Given the description of an element on the screen output the (x, y) to click on. 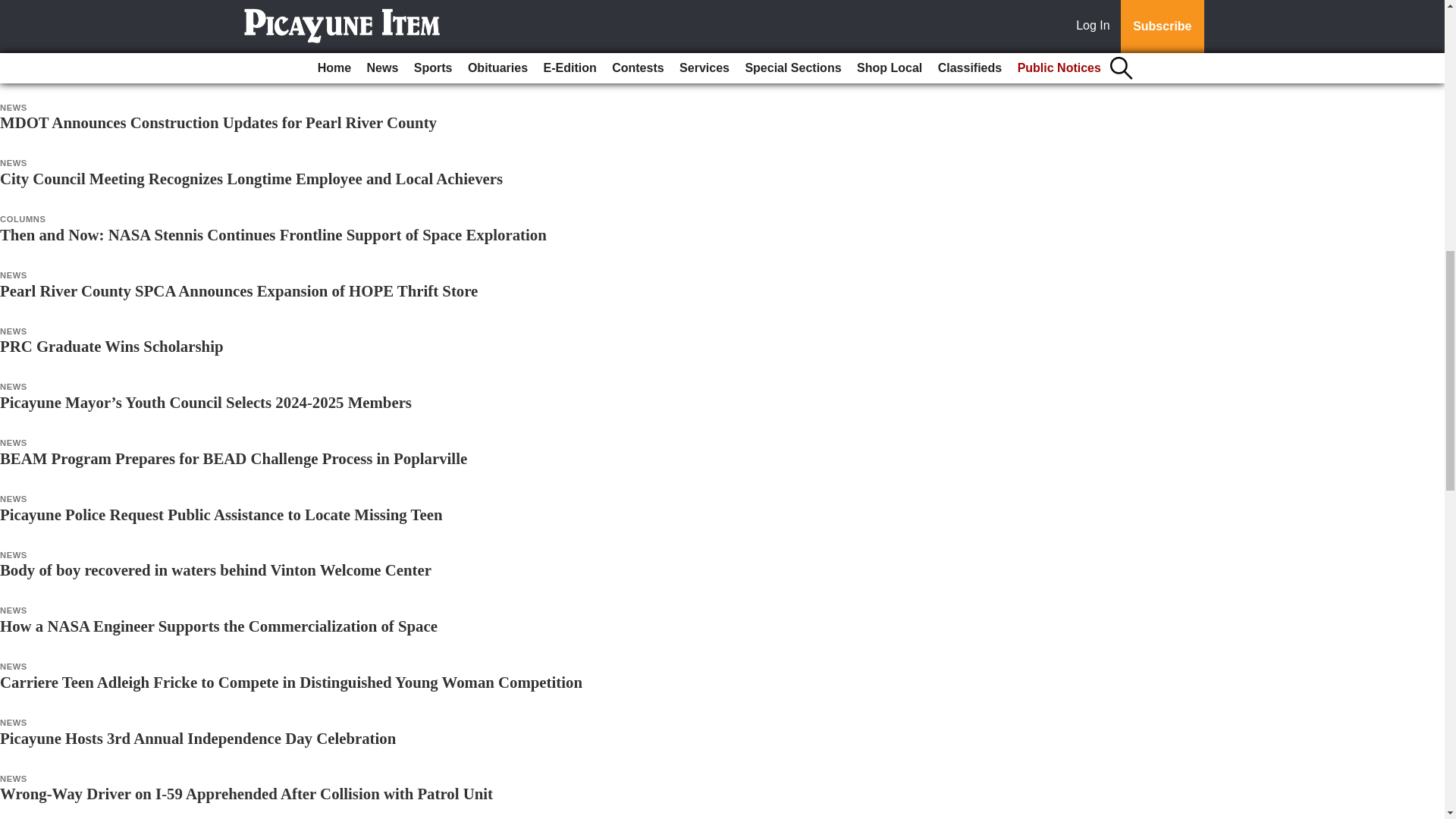
PRC Graduate Wins Scholarship (112, 345)
MDOT Announces Construction Updates for Pearl River County (218, 122)
Body of boy recovered in waters behind Vinton Welcome Center (215, 569)
Submit an event to the Calendar (721, 61)
MDOT Announces Construction Updates for Pearl River County (218, 122)
